Given the description of an element on the screen output the (x, y) to click on. 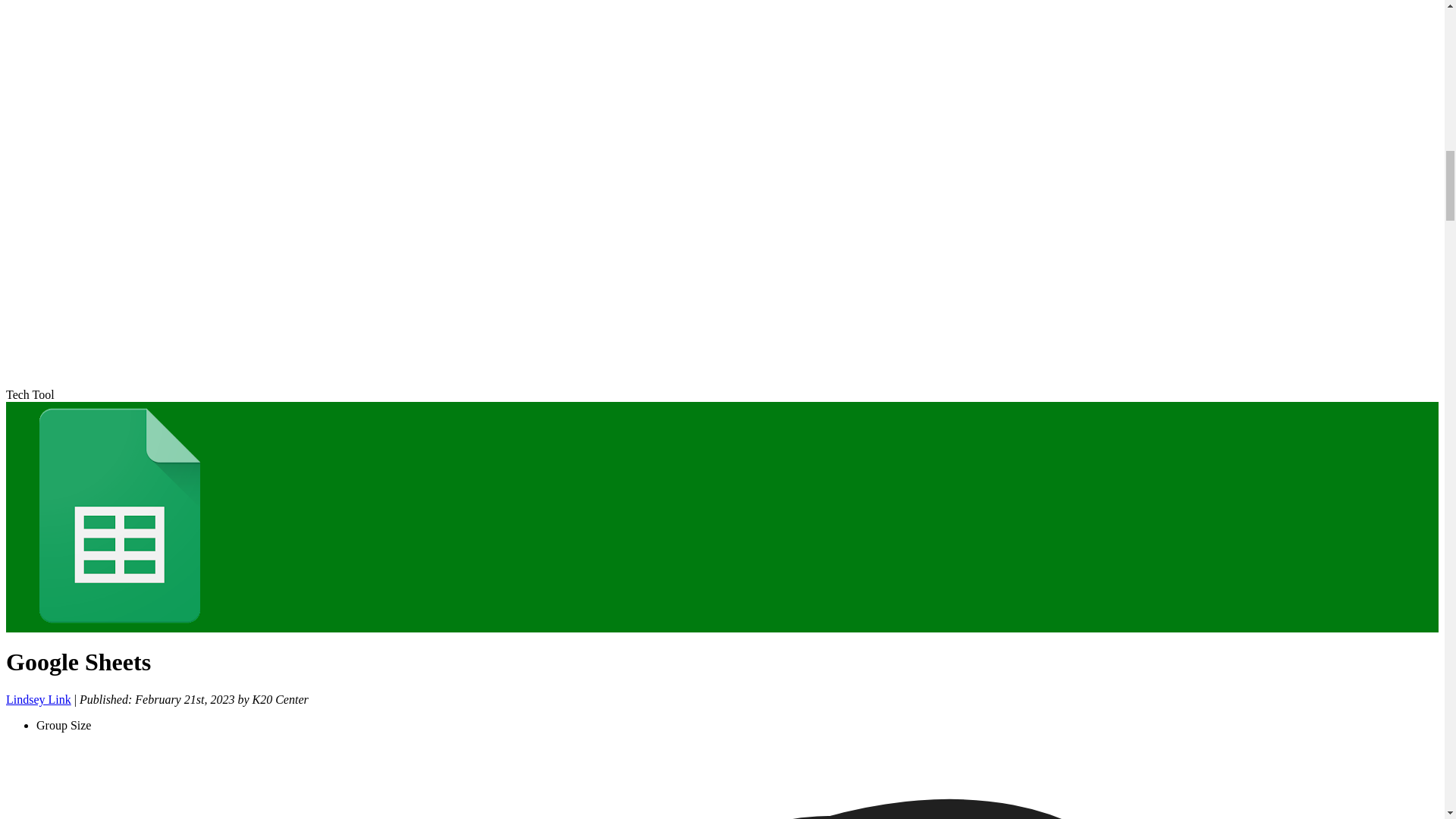
Lindsey Link (38, 698)
